Given the description of an element on the screen output the (x, y) to click on. 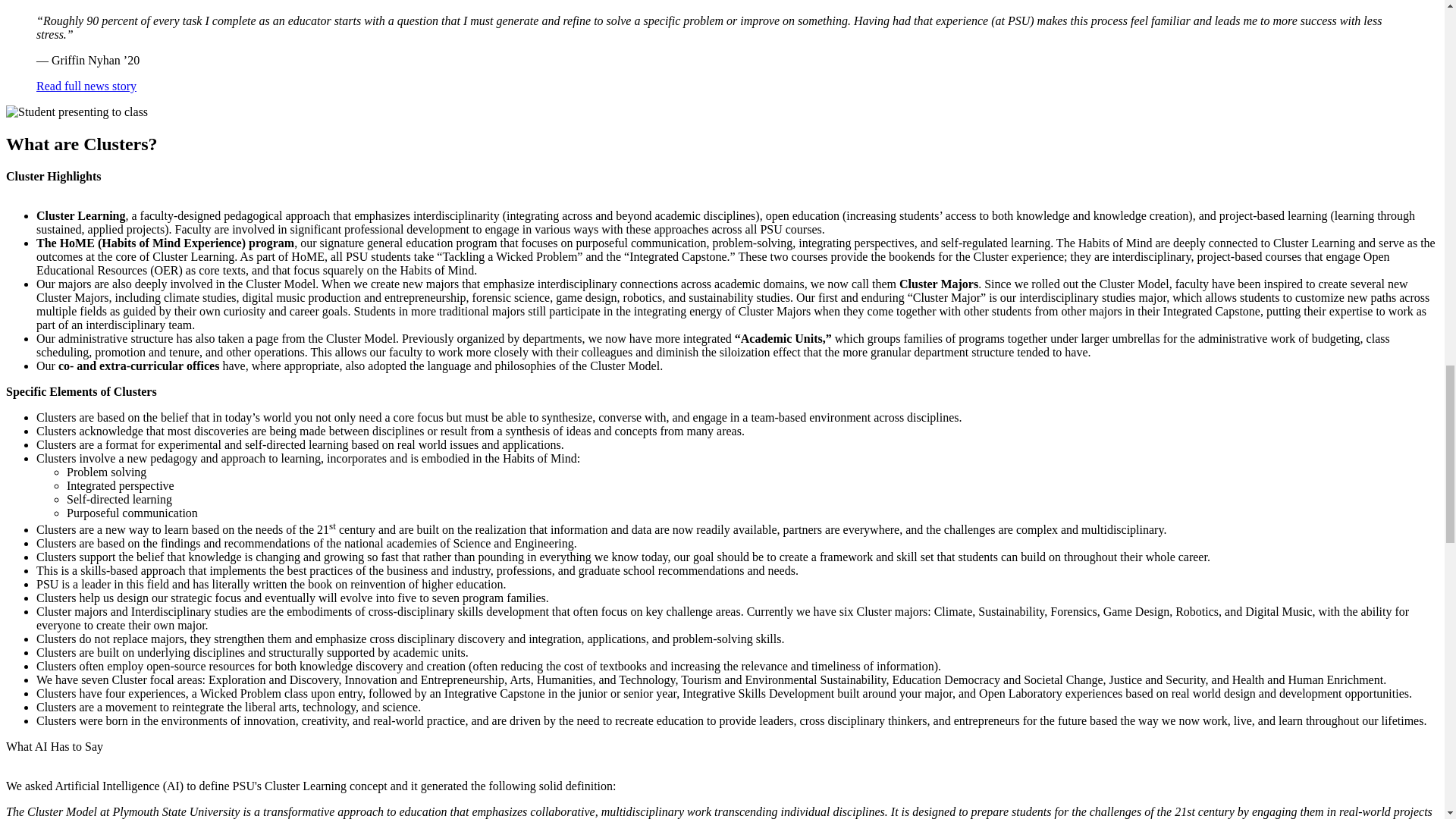
Read full news story (86, 85)
